Given the description of an element on the screen output the (x, y) to click on. 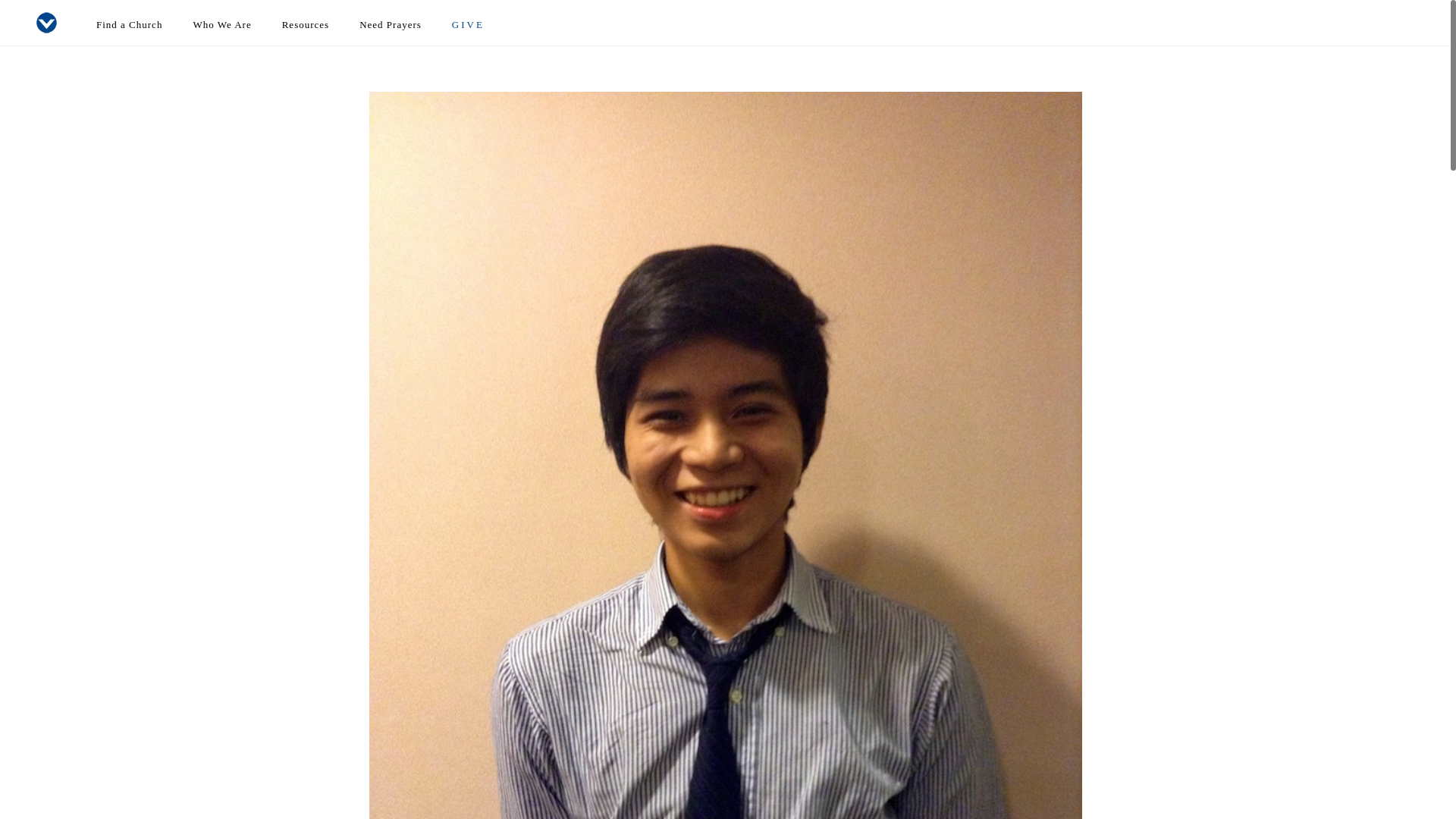
Need Prayers (389, 24)
Find a Church (129, 24)
Resources (304, 24)
Post Comment (51, 11)
Who We Are (221, 24)
GIVE (467, 24)
